Given the description of an element on the screen output the (x, y) to click on. 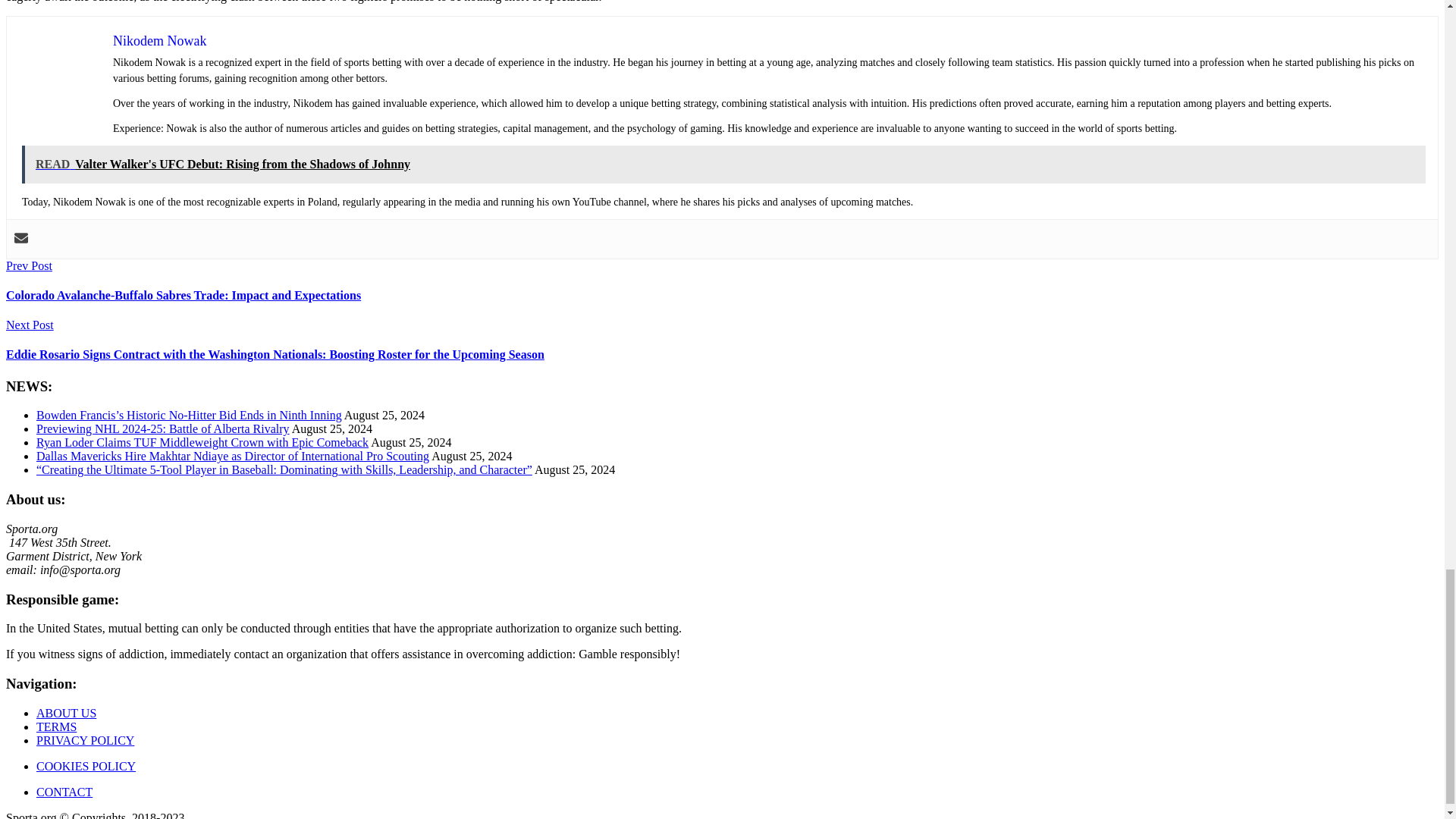
TERMS (56, 726)
Previewing NHL 2024-25: Battle of Alberta Rivalry (162, 428)
Ryan Loder Claims TUF Middleweight Crown with Epic Comeback (202, 441)
Nikodem Nowak (159, 40)
ABOUT US (66, 712)
